Given the description of an element on the screen output the (x, y) to click on. 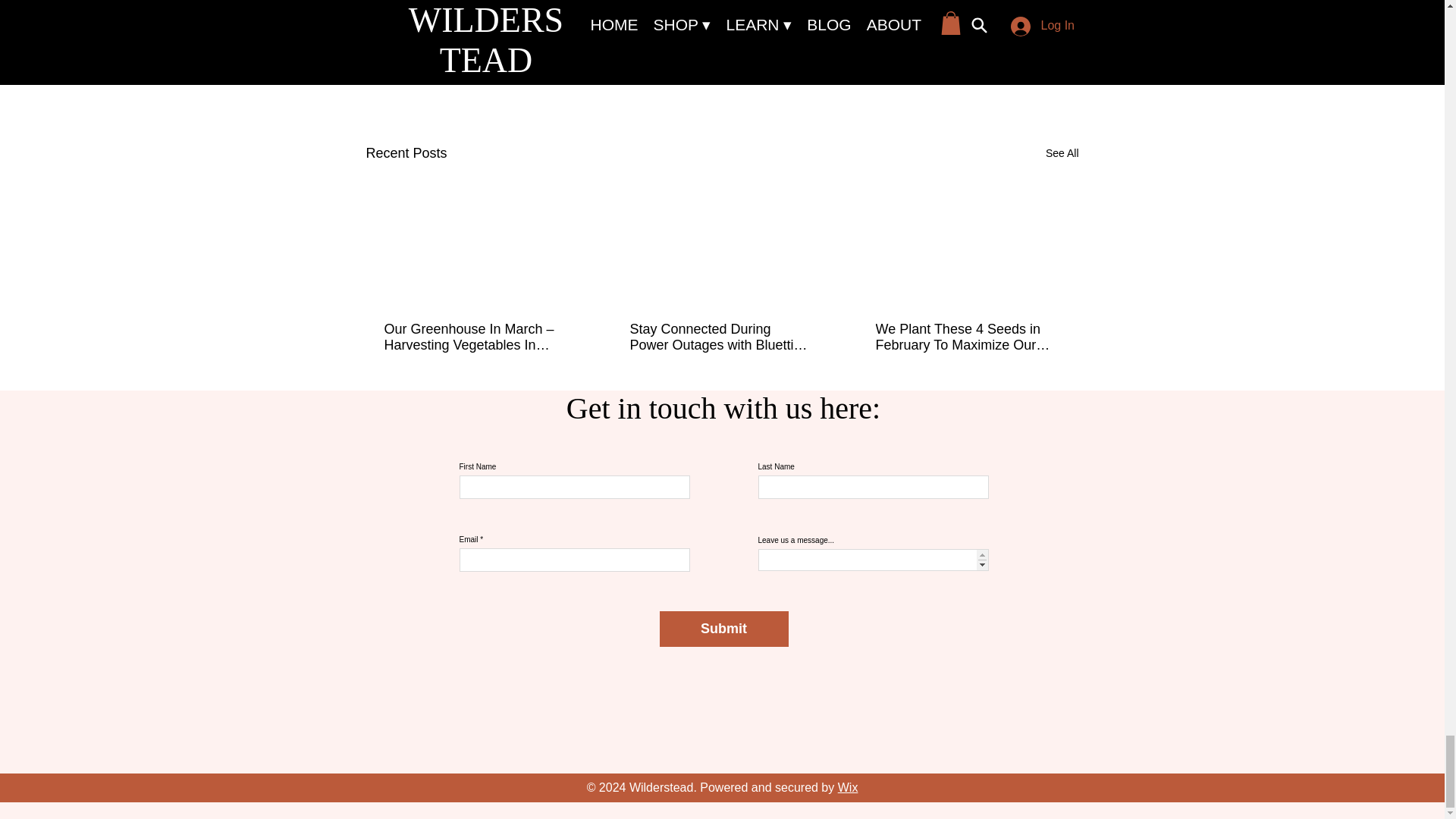
Stay Connected During Power Outages with Bluetti EB3A (720, 336)
Blog (992, 56)
Wix (848, 787)
Submit (724, 628)
See All (1061, 153)
Recipes (946, 56)
